Given the description of an element on the screen output the (x, y) to click on. 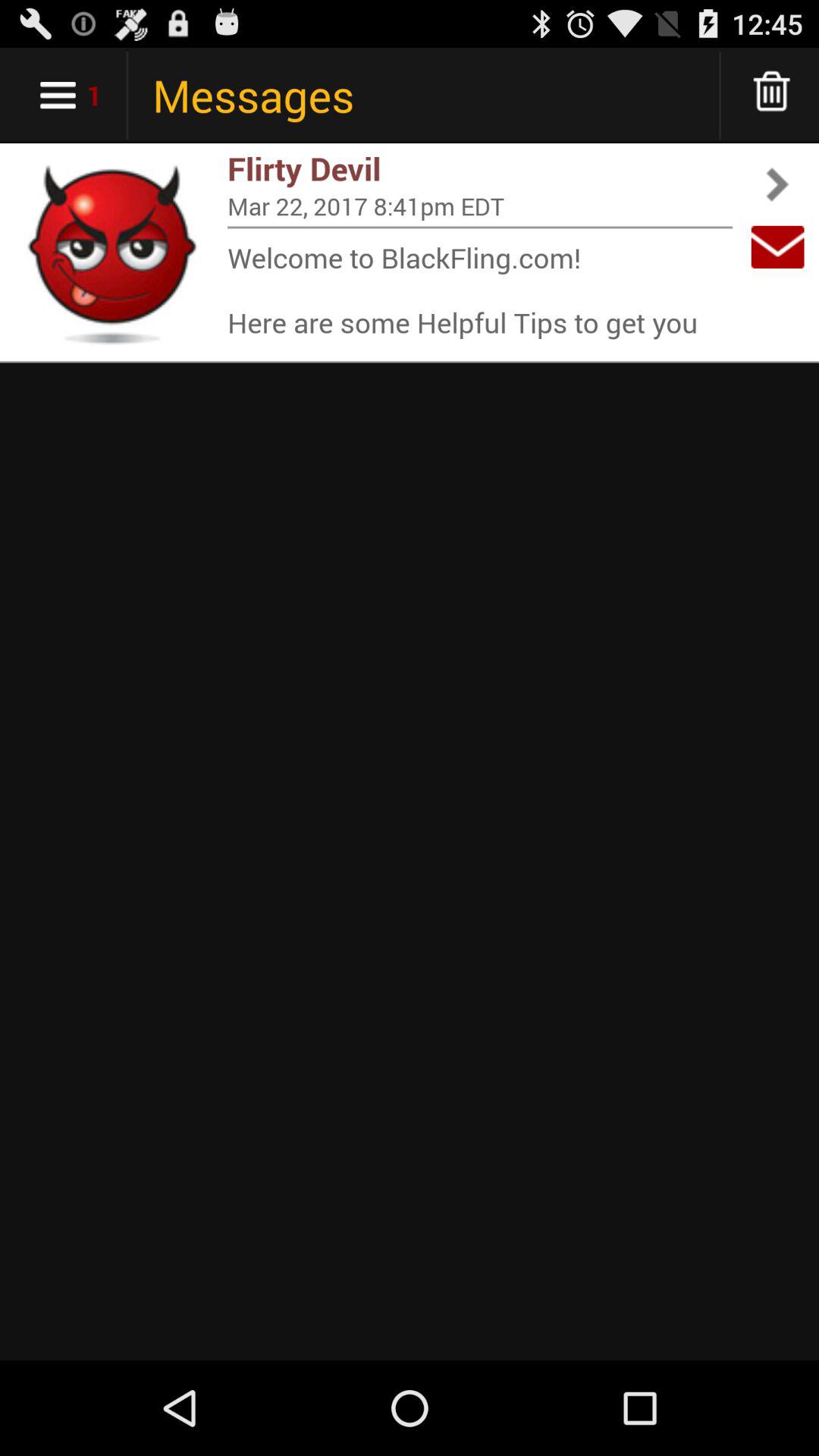
press item below the mar 22 2017 item (479, 227)
